Given the description of an element on the screen output the (x, y) to click on. 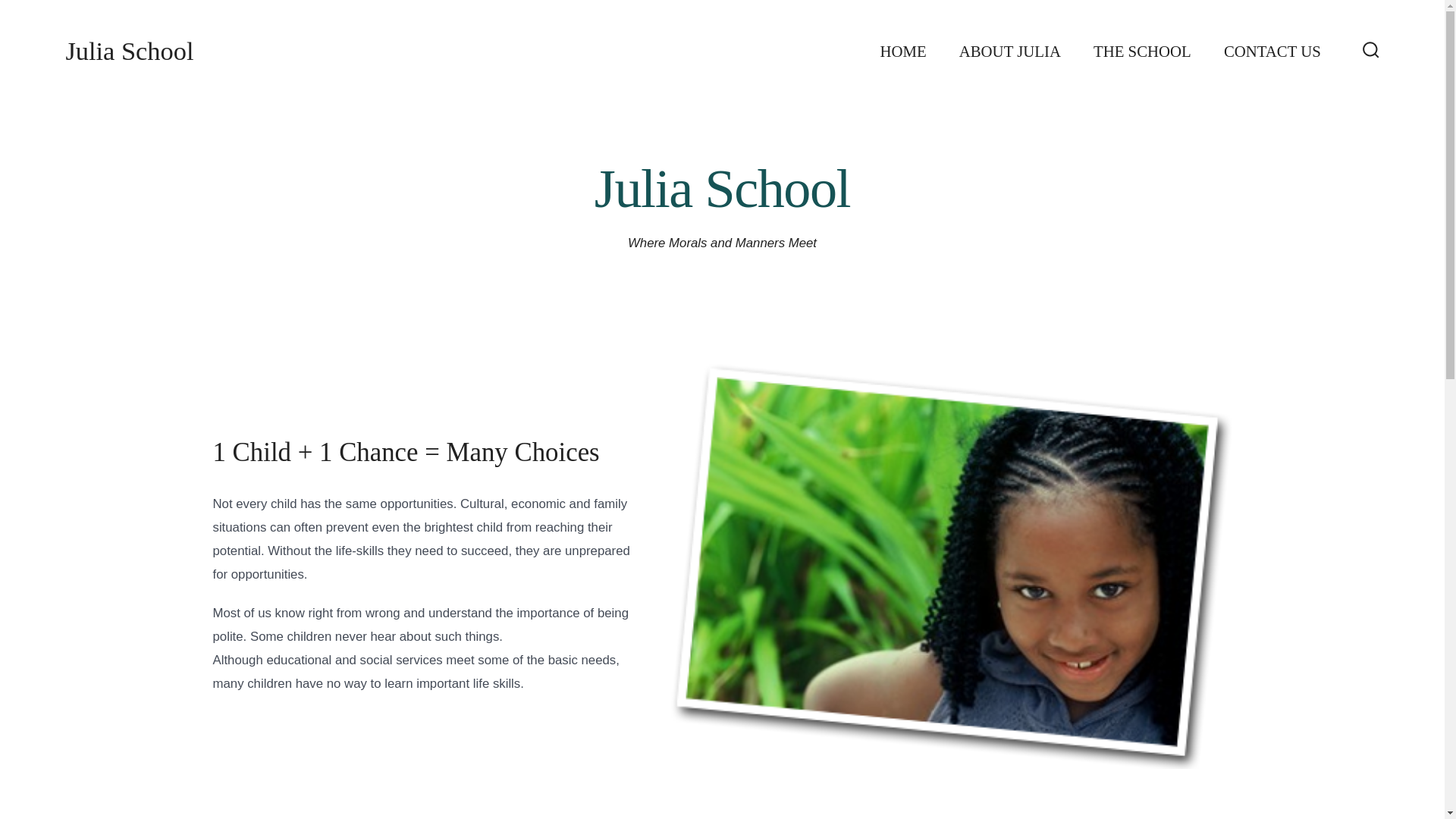
Search Toggle (1371, 50)
Julia School (129, 51)
HOME (902, 51)
THE SCHOOL (1142, 51)
ABOUT JULIA (1010, 51)
CONTACT US (1272, 51)
